Given the description of an element on the screen output the (x, y) to click on. 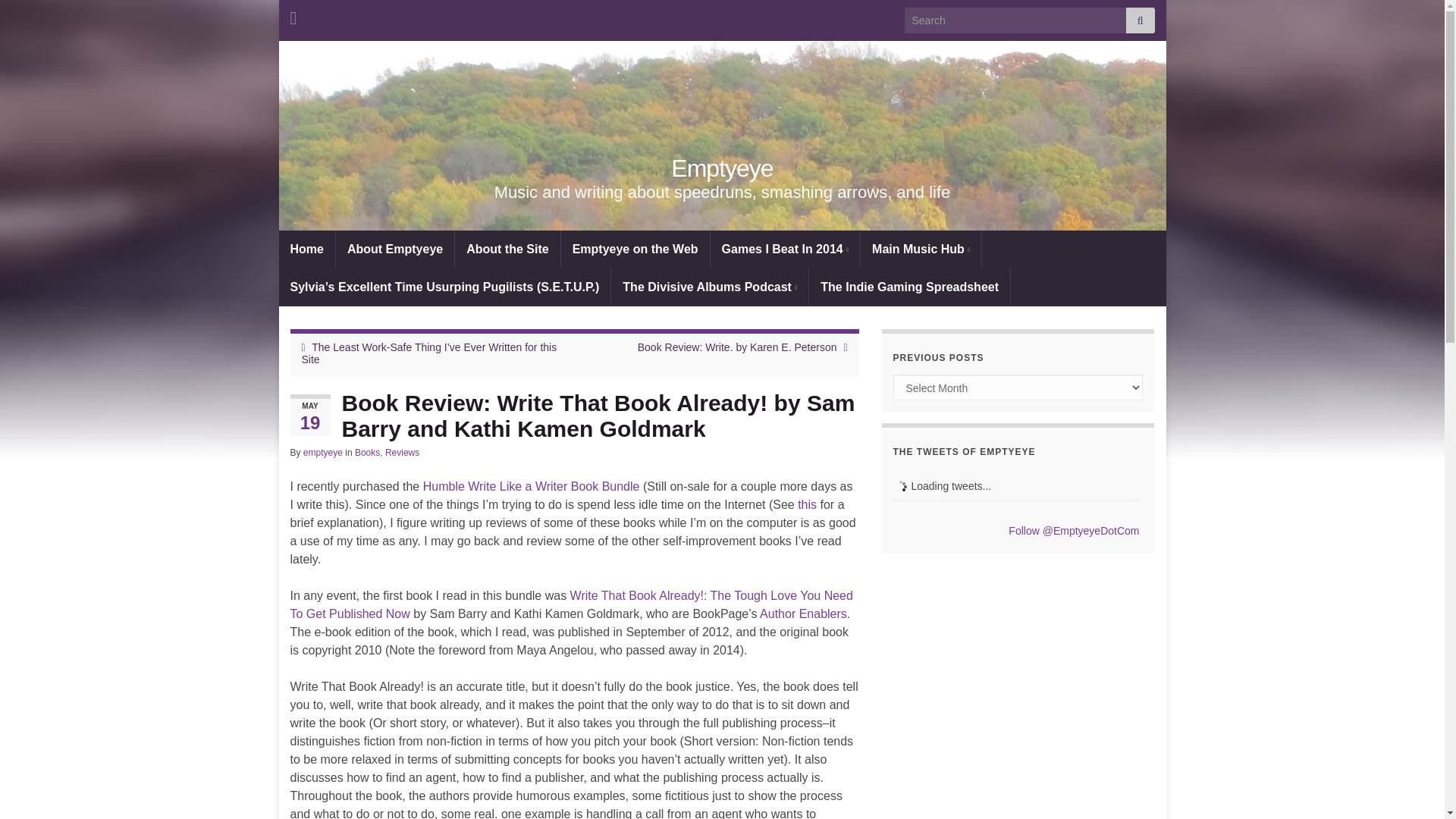
Home (306, 249)
Emptyeye (722, 167)
Games I Beat In 2014 (785, 249)
About Emptyeye (395, 249)
Go back to the front page (722, 167)
About the Site (506, 249)
Emptyeye on the Web (635, 249)
